Given the description of an element on the screen output the (x, y) to click on. 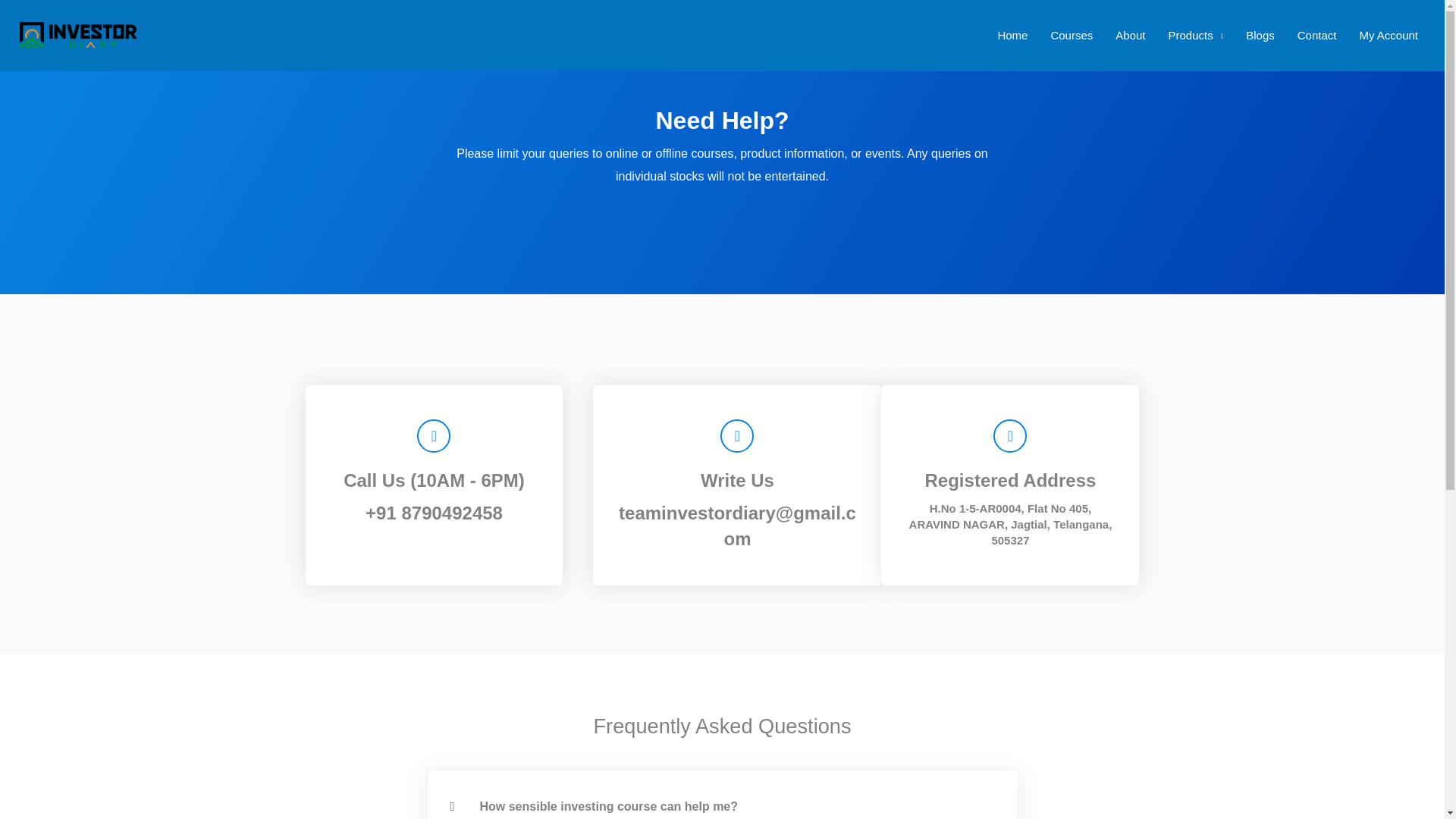
Products (1195, 35)
About (1129, 35)
My Account (1388, 35)
Home (1012, 35)
Blogs (1259, 35)
Contact (1316, 35)
Courses (1071, 35)
How sensible investing course can help me? (608, 806)
